Given the description of an element on the screen output the (x, y) to click on. 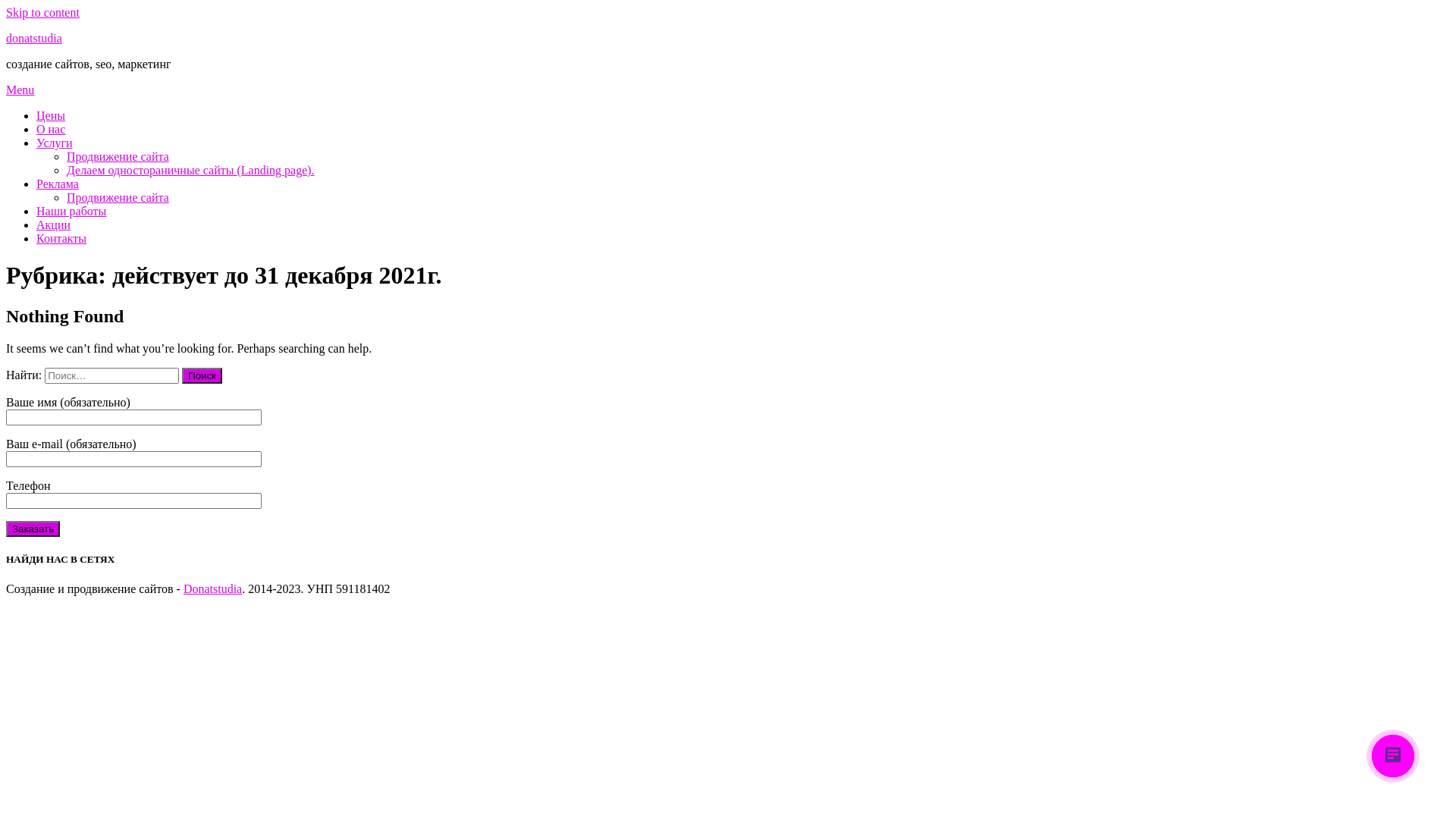
Menu Element type: text (20, 89)
donatstudia Element type: text (34, 37)
Skip to content Element type: text (42, 12)
Donatstudia Element type: text (212, 588)
